Given the description of an element on the screen output the (x, y) to click on. 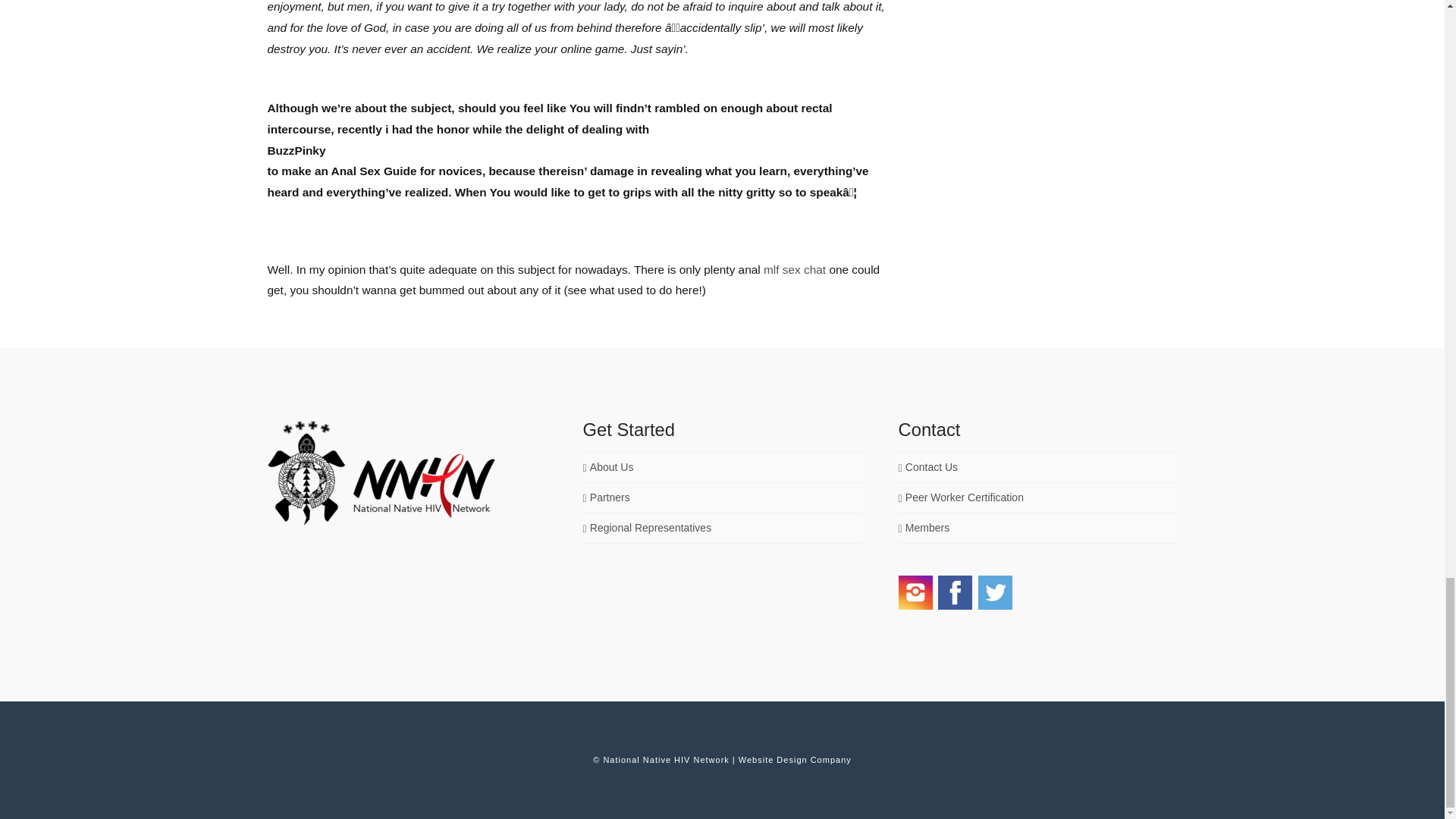
Website Design Company (794, 759)
Peer Worker Certification (960, 497)
About Us (607, 467)
Partners (605, 497)
mlf sex chat (793, 269)
Members (923, 528)
Contact Us (928, 467)
Regional Representatives (646, 528)
